Given the description of an element on the screen output the (x, y) to click on. 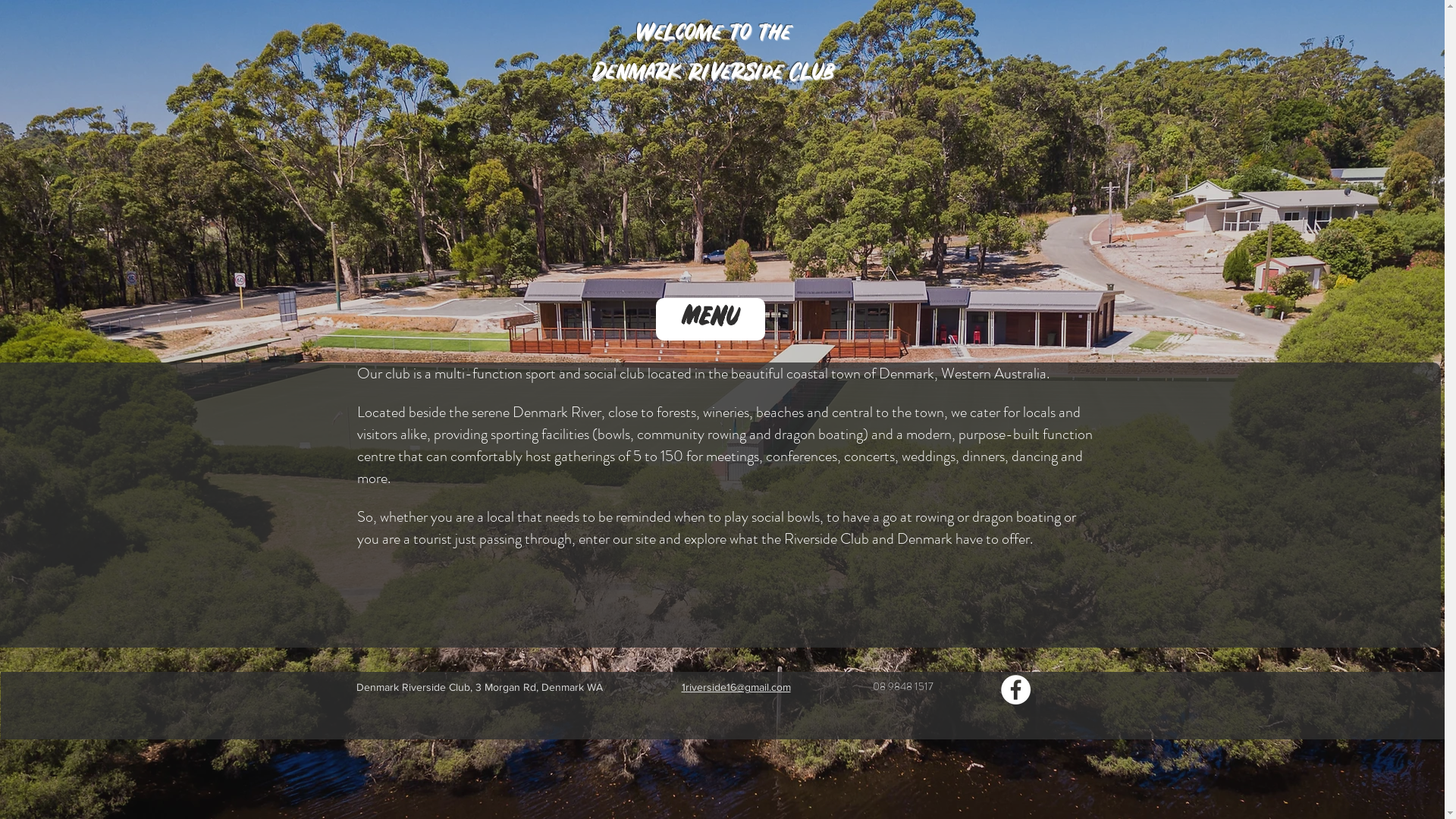
MENU Element type: text (710, 315)
1riverside16@gmail.com Element type: text (735, 686)
